Given the description of an element on the screen output the (x, y) to click on. 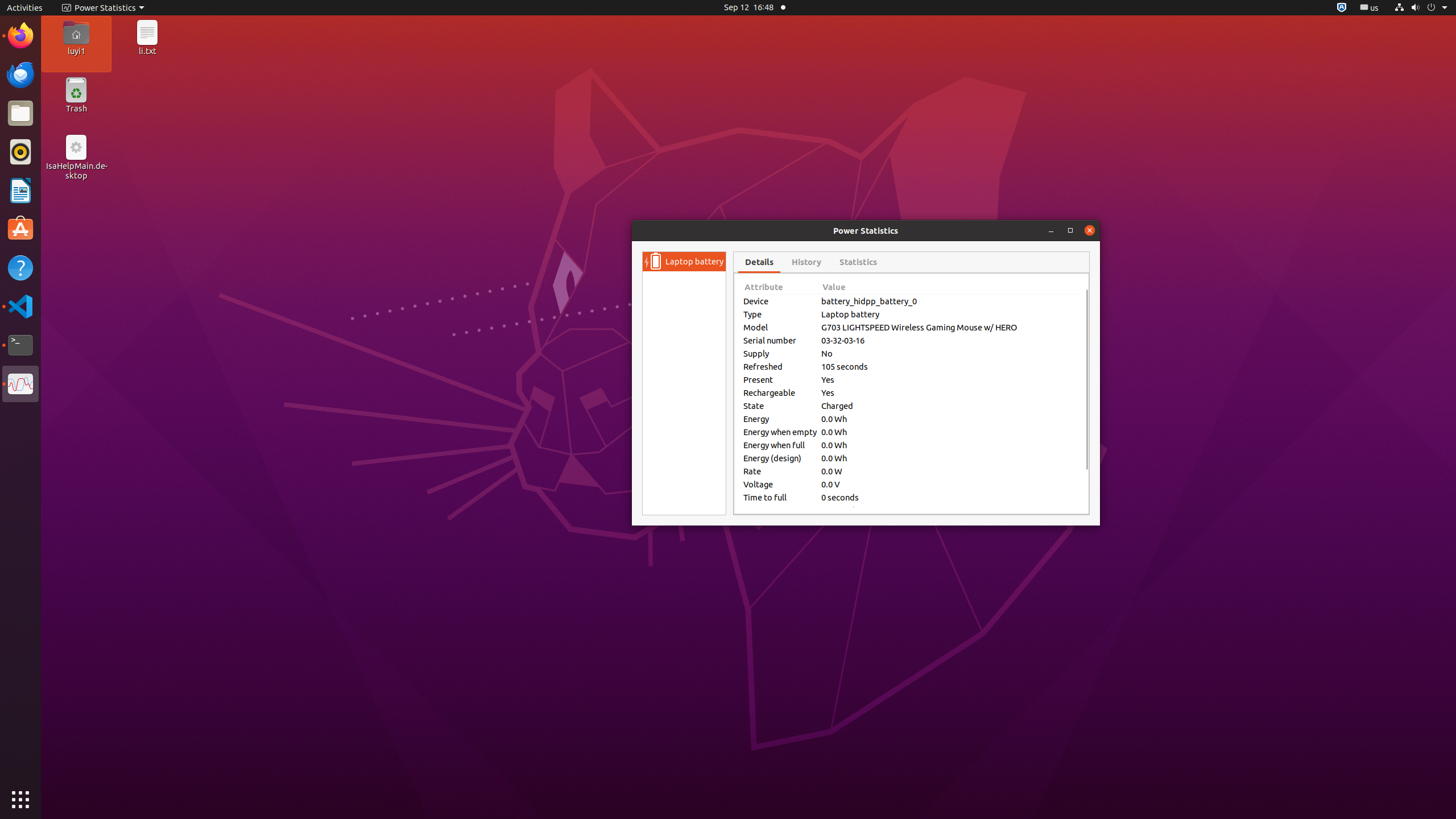
Activities Element type: label (24, 7)
State Element type: table-cell (779, 405)
Refreshed Element type: table-cell (779, 366)
Yes Element type: table-cell (950, 379)
